Given the description of an element on the screen output the (x, y) to click on. 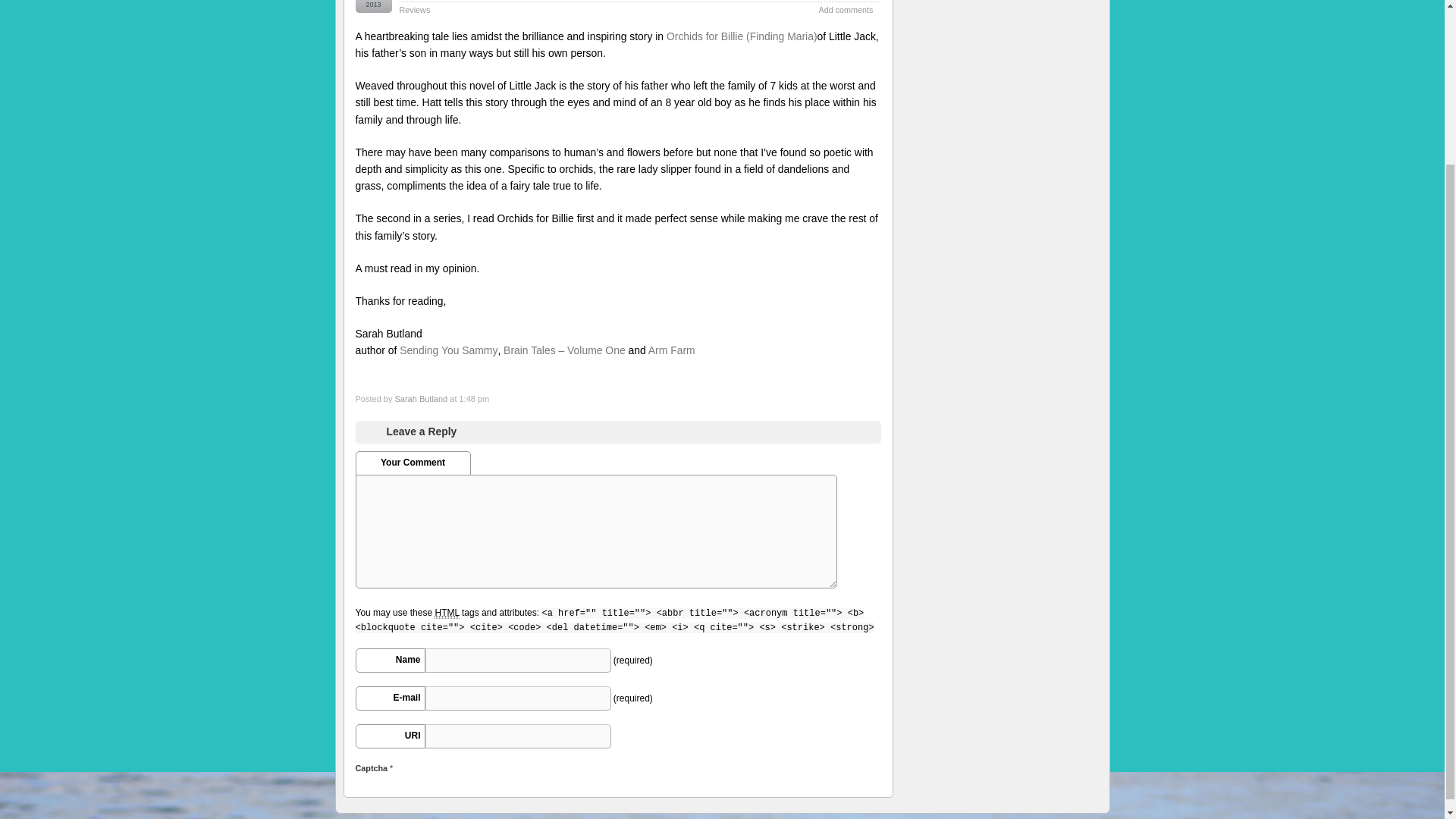
Sending You Sammy (447, 349)
HyperText Markup Language (445, 613)
Arm Farm (671, 349)
Add comments (845, 9)
Reviews (413, 9)
Sarah Butland (420, 398)
